Given the description of an element on the screen output the (x, y) to click on. 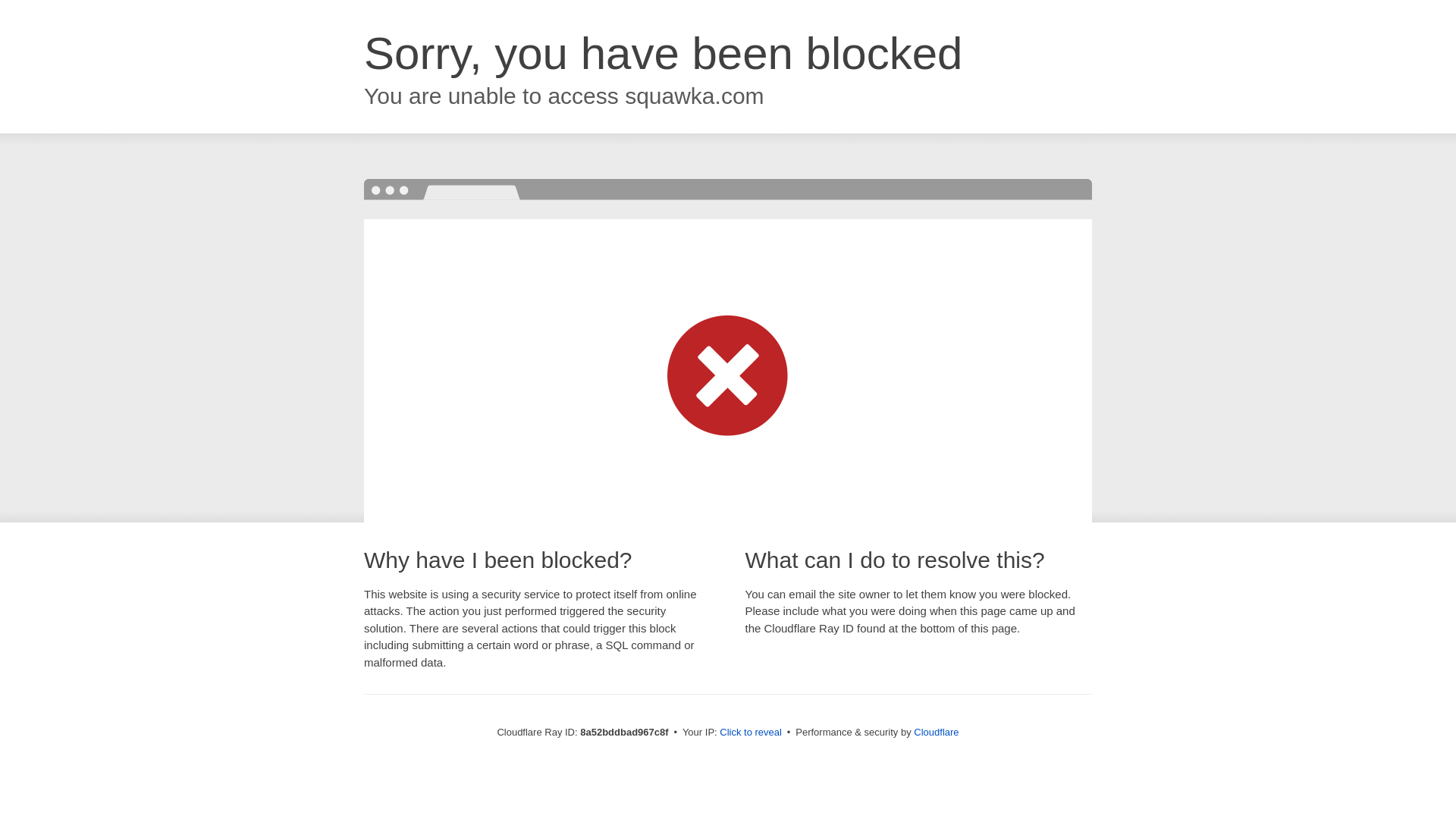
Cloudflare (936, 731)
Click to reveal (750, 732)
